Given the description of an element on the screen output the (x, y) to click on. 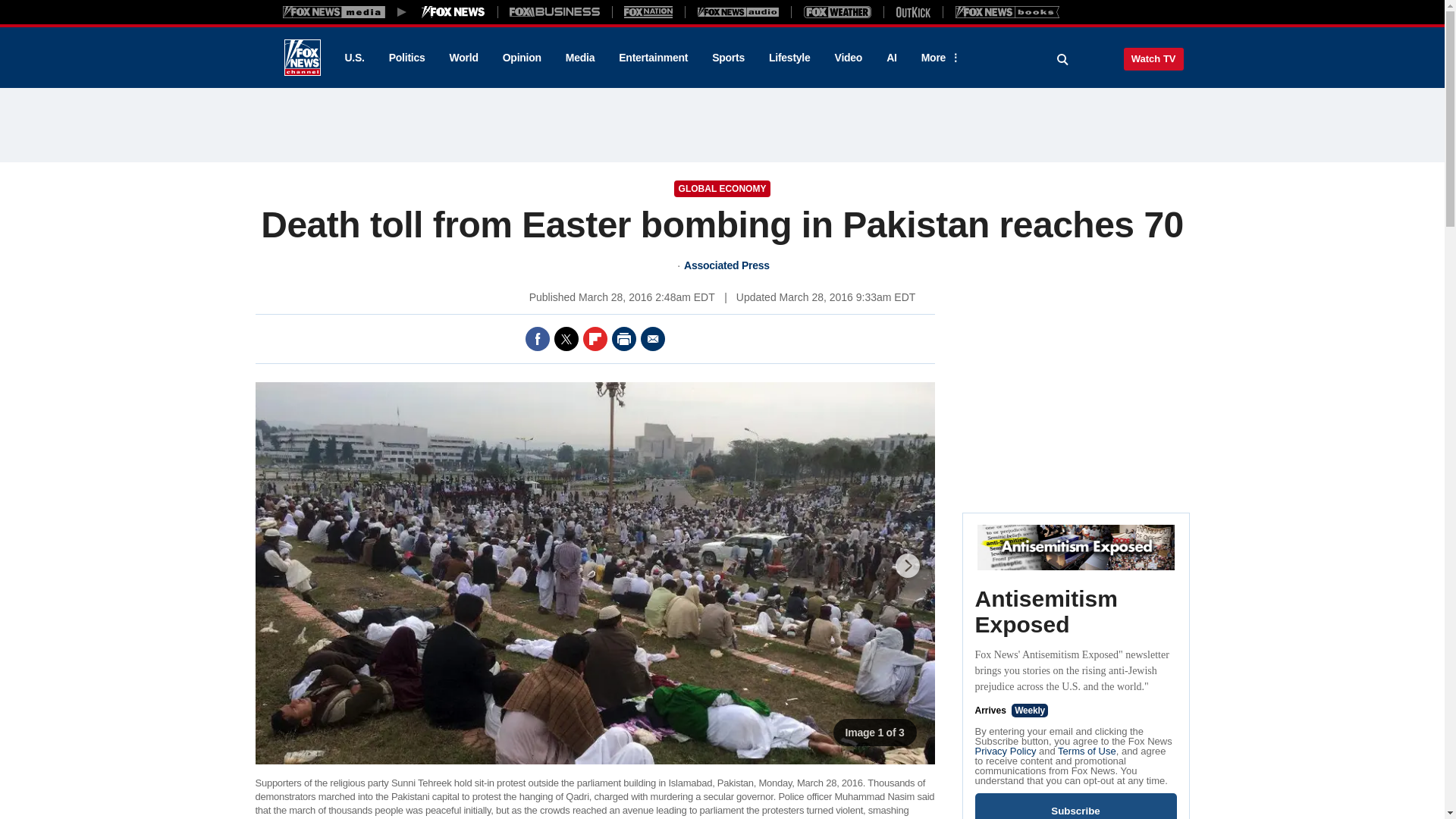
AI (891, 57)
Sports (728, 57)
Media (580, 57)
Fox Nation (648, 11)
Lifestyle (789, 57)
Books (1007, 11)
Entertainment (653, 57)
World (464, 57)
Politics (407, 57)
More (938, 57)
